Given the description of an element on the screen output the (x, y) to click on. 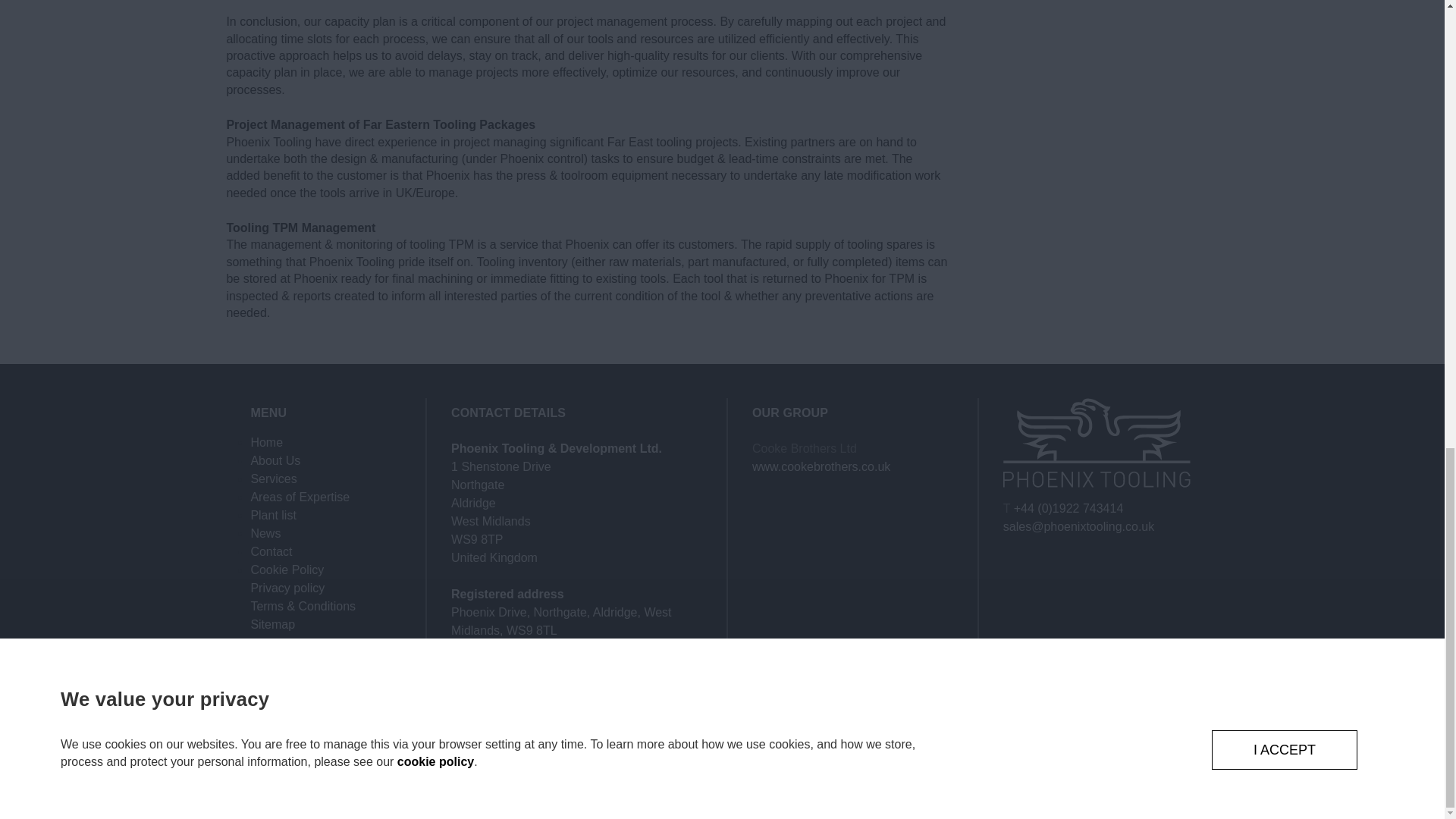
Cook Brothers Ltd (820, 466)
